Given the description of an element on the screen output the (x, y) to click on. 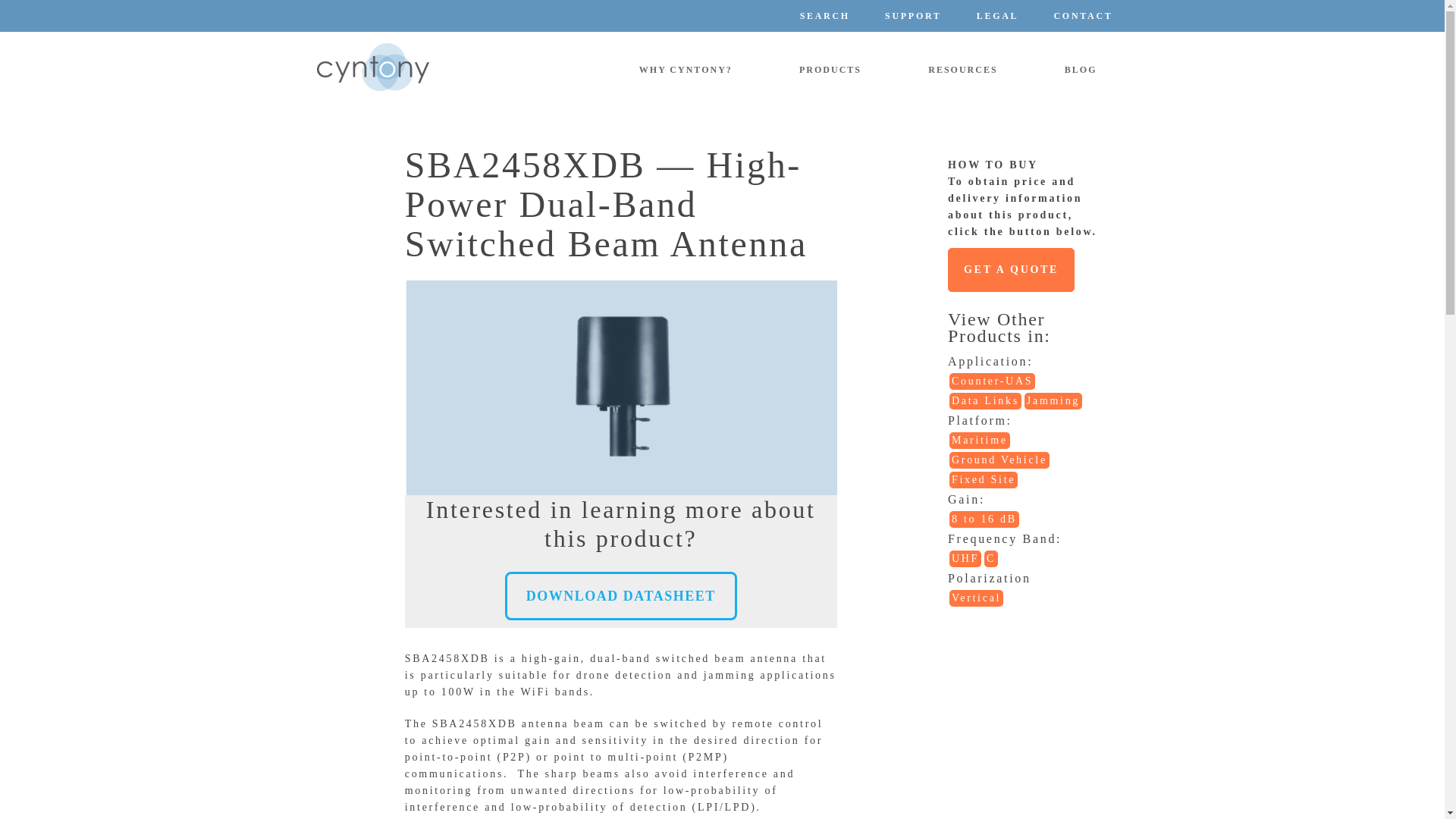
SEARCH (824, 15)
Page 1 (620, 675)
SUPPORT (912, 15)
CONTACT (1082, 15)
LEGAL (996, 15)
Page 1 (620, 763)
WHY CYNTONY? (685, 69)
PRODUCTS (830, 69)
